Given the description of an element on the screen output the (x, y) to click on. 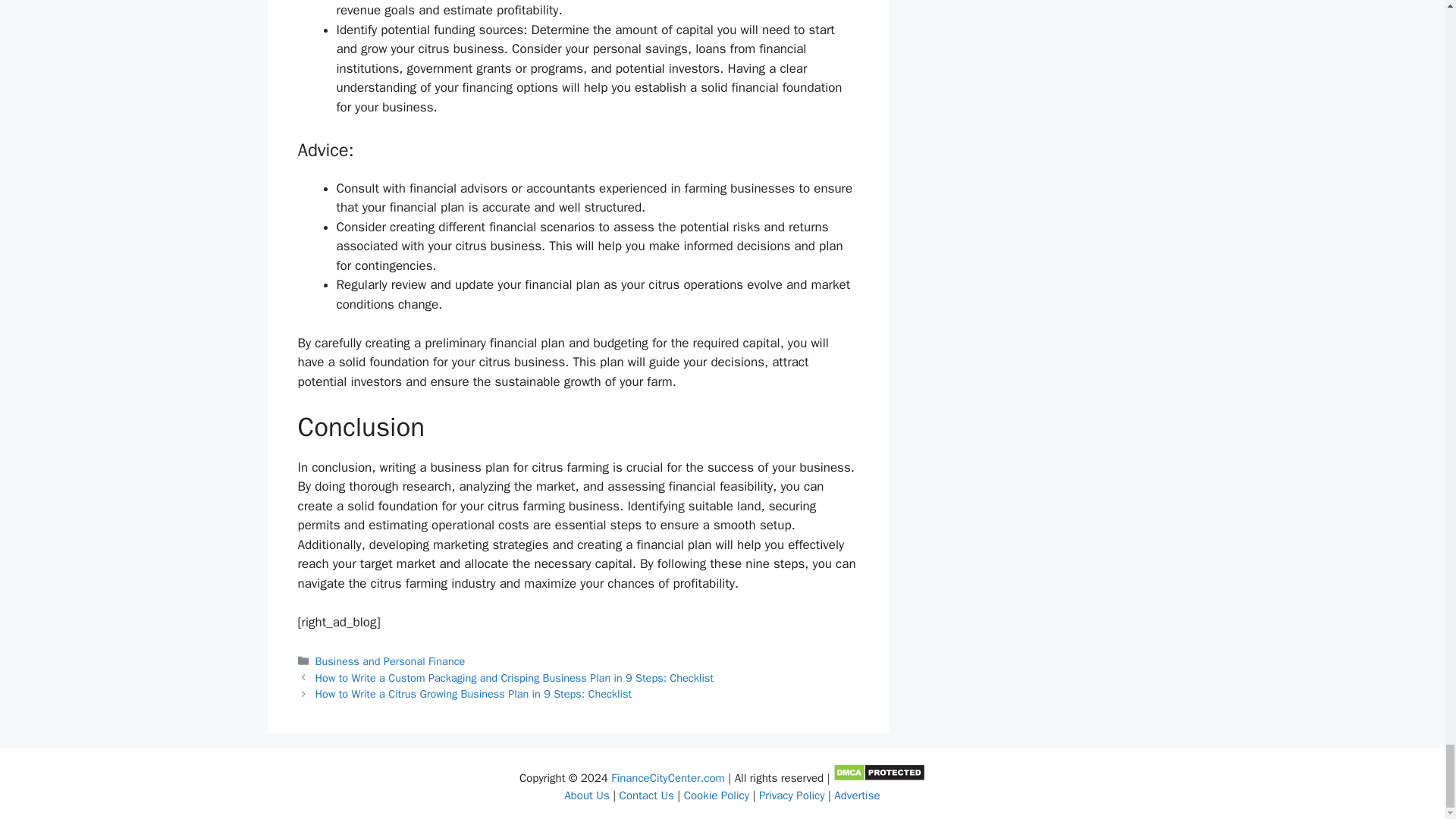
FinanceCityCenter.com (667, 777)
Cookie Policy (716, 795)
Business and Personal Finance (390, 661)
DMCA.com Protection Status (878, 777)
Contact Us (647, 795)
About Us (586, 795)
Privacy Policy (791, 795)
Advertise (856, 795)
